Given the description of an element on the screen output the (x, y) to click on. 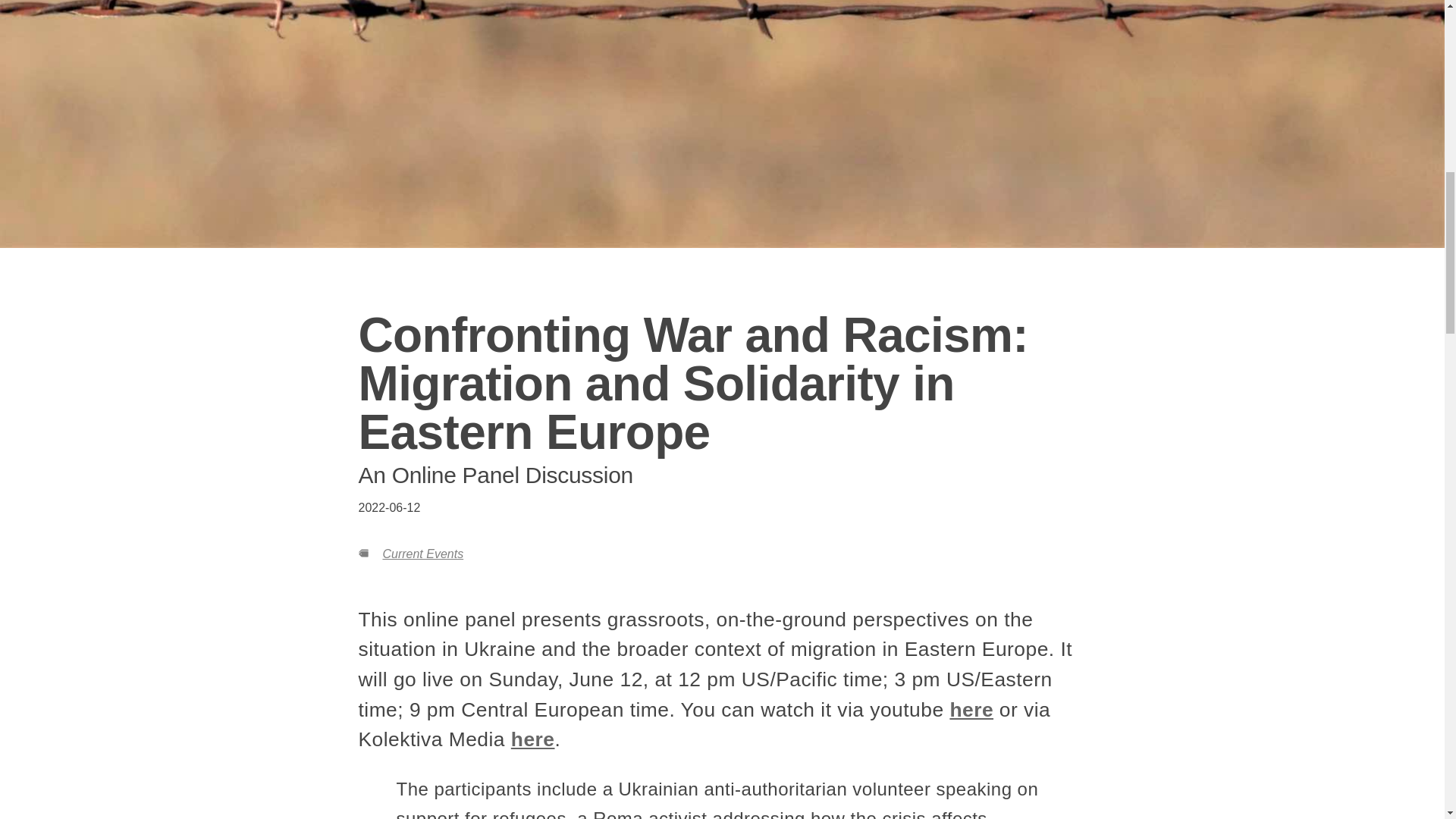
here (532, 739)
Current Events (422, 553)
here (970, 709)
